Given the description of an element on the screen output the (x, y) to click on. 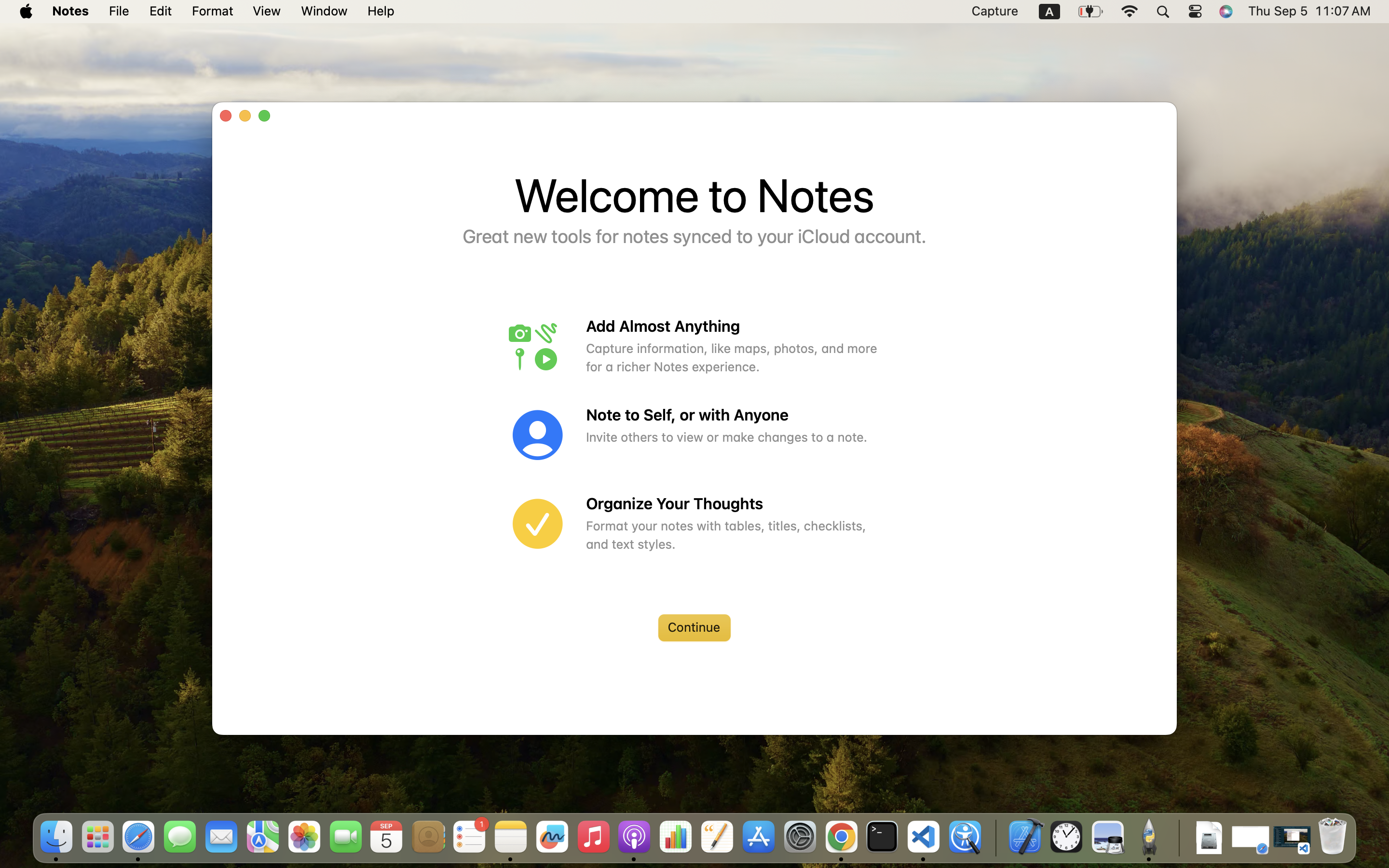
Format your notes with tables, titles, checklists, and text styles. Element type: AXStaticText (732, 534)
Welcome to Notes Element type: AXStaticText (693, 194)
Note to Self, or with Anyone Element type: AXStaticText (732, 415)
Invite others to view or make changes to a note. Element type: AXStaticText (732, 436)
Organize Your Thoughts Element type: AXStaticText (732, 503)
